Given the description of an element on the screen output the (x, y) to click on. 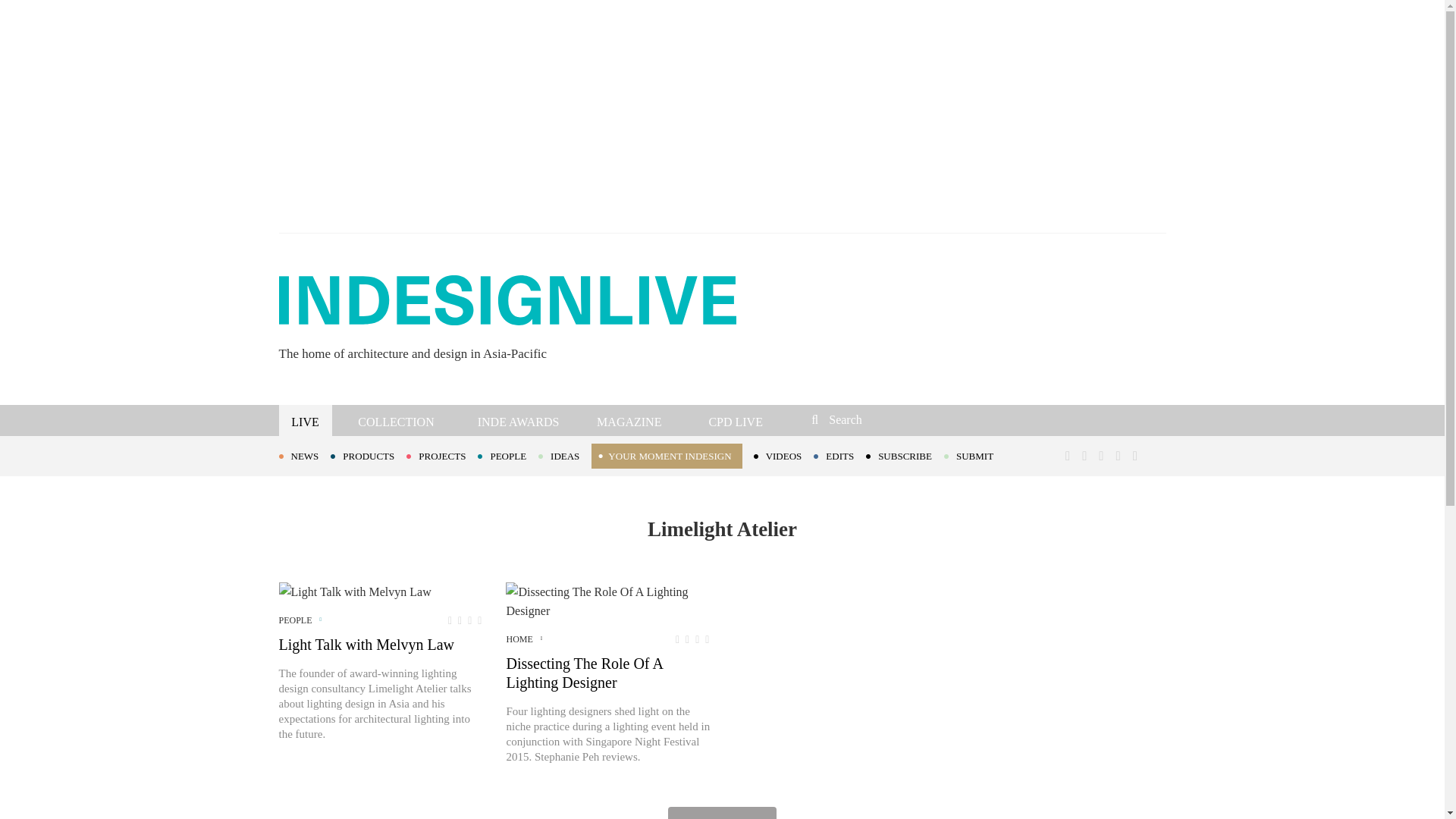
SUBMIT (974, 455)
Search (913, 418)
EDITS (839, 455)
VIDEOS (783, 455)
NEWS (305, 455)
SUBSCRIBE (904, 455)
PROJECTS (441, 455)
PEOPLE (507, 455)
Light Talk with Melvyn Law (354, 591)
IDEAS (564, 455)
PRODUCTS (368, 455)
YOUR MOMENT INDESIGN (666, 455)
Dissecting The Role Of A Lighting Designer (607, 600)
